Given the description of an element on the screen output the (x, y) to click on. 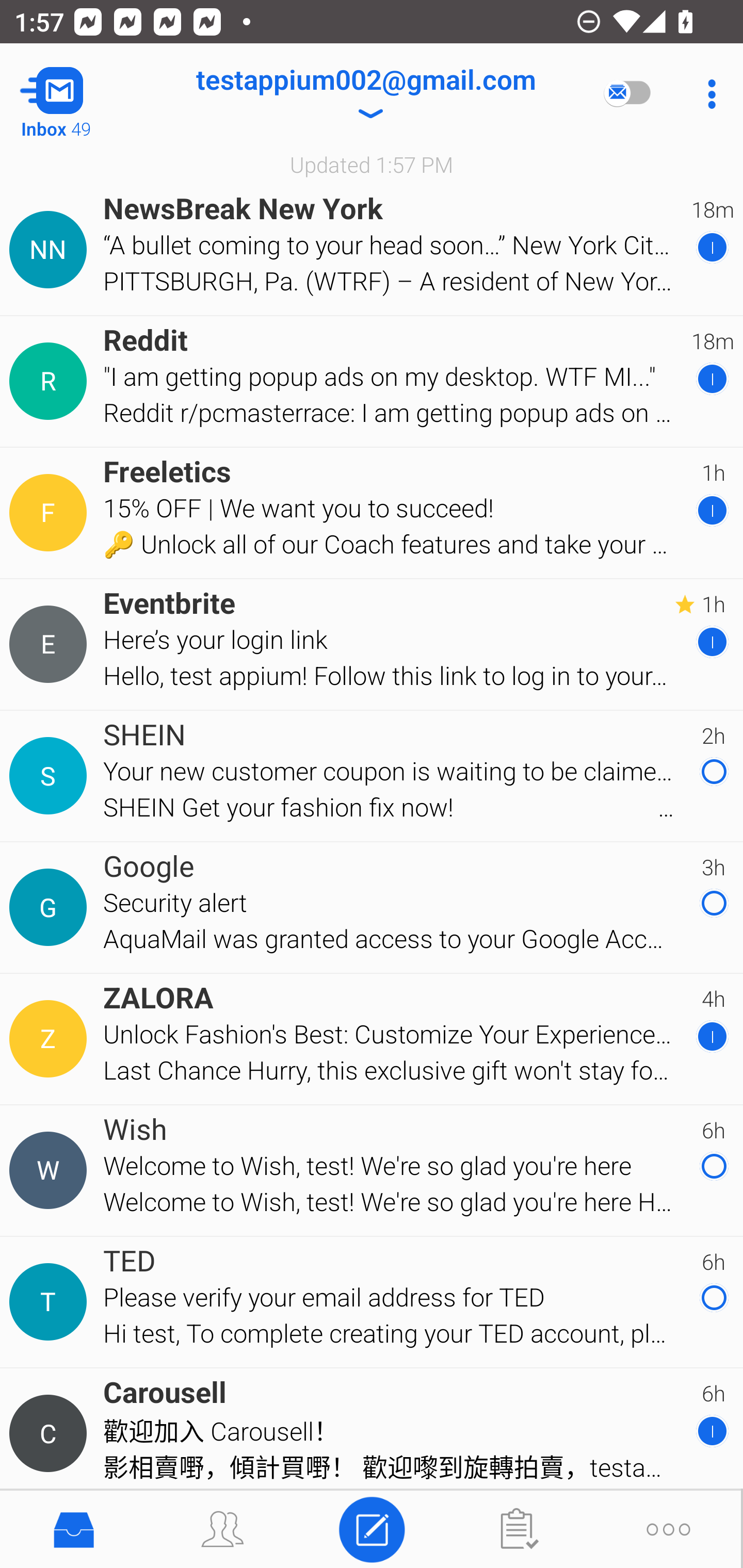
Navigate up (81, 93)
testappium002@gmail.com (365, 93)
More Options (706, 93)
Updated 1:57 PM (371, 164)
Contact Details (50, 250)
Contact Details (50, 381)
Contact Details (50, 513)
Contact Details (50, 644)
Contact Details (50, 776)
Contact Details (50, 907)
Contact Details (50, 1038)
Contact Details (50, 1170)
Contact Details (50, 1302)
Contact Details (50, 1433)
Compose (371, 1528)
